Given the description of an element on the screen output the (x, y) to click on. 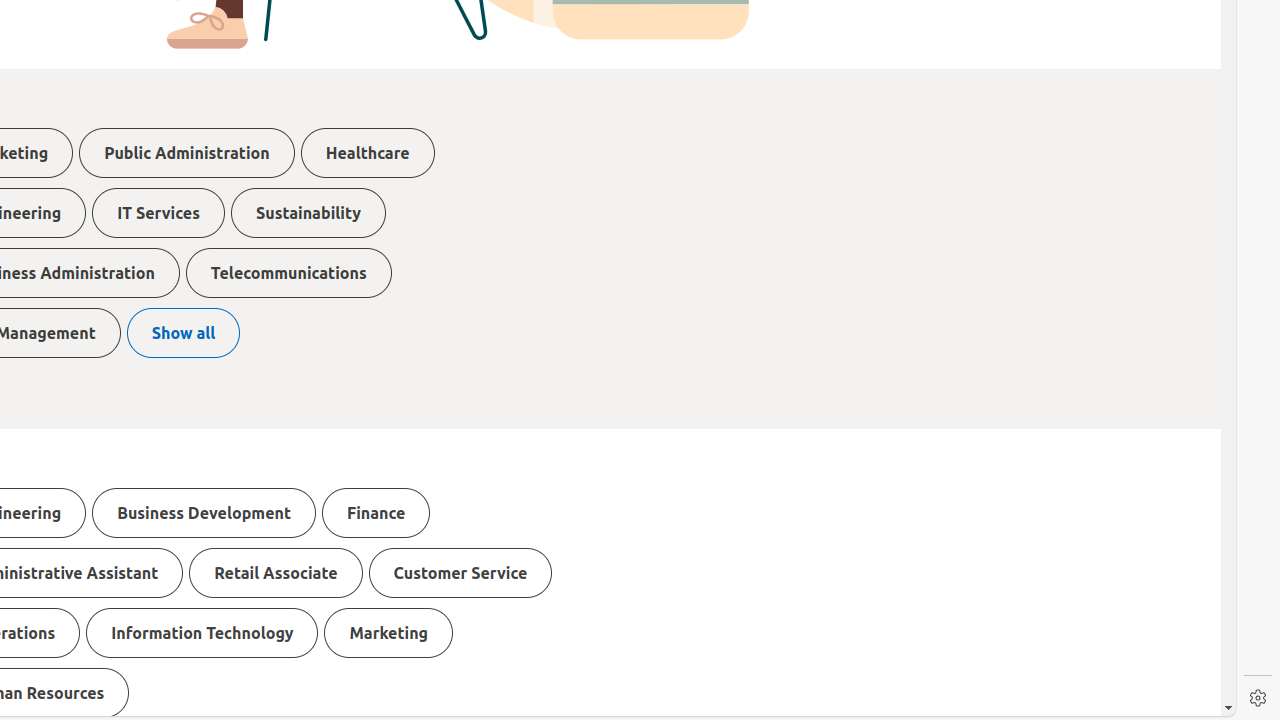
IT Services Element type: link (158, 213)
Sustainability Element type: link (308, 213)
Show all collaborative articles Element type: link (183, 333)
Healthcare Element type: link (367, 153)
Settings Element type: push-button (1258, 698)
